Given the description of an element on the screen output the (x, y) to click on. 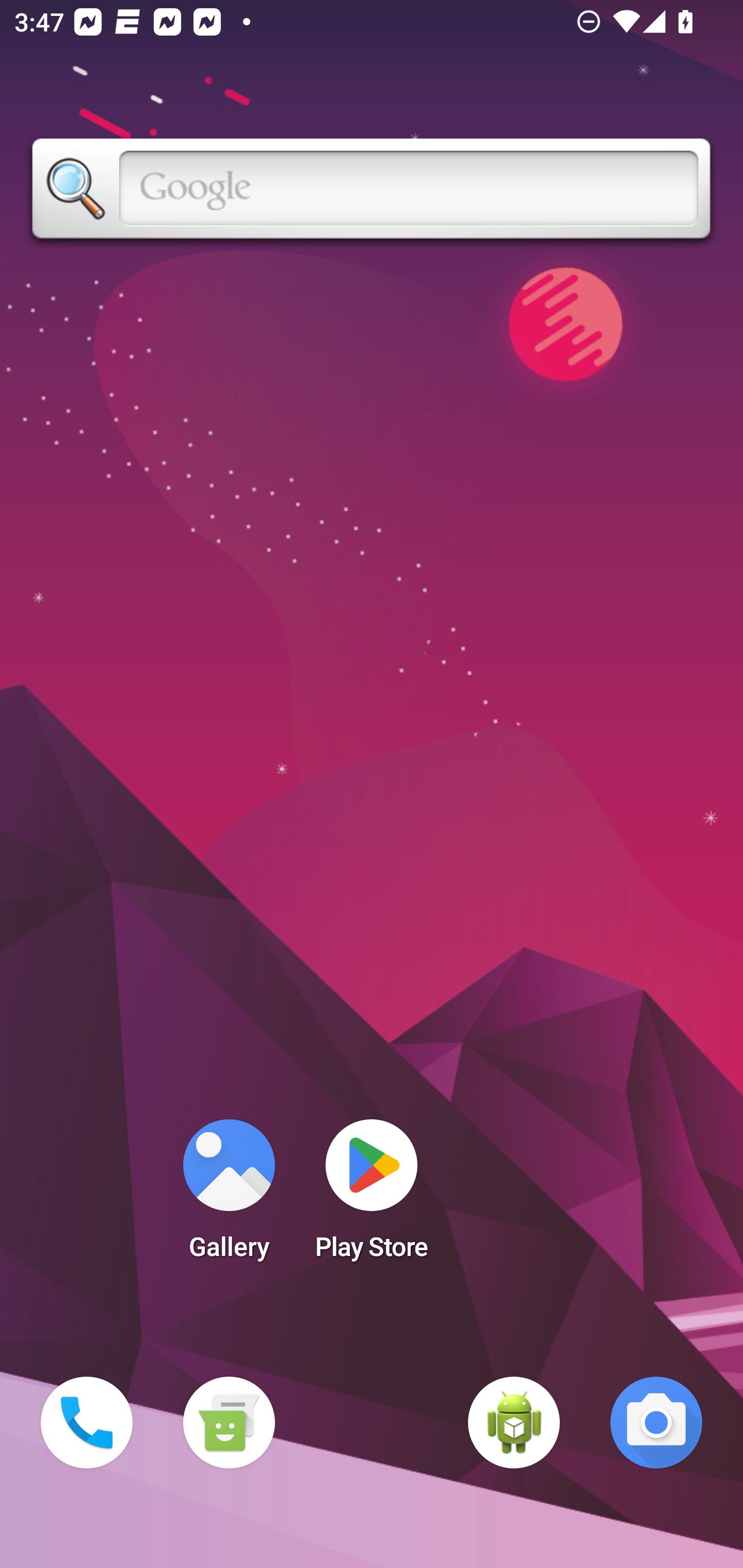
Gallery (228, 1195)
Play Store (371, 1195)
Phone (86, 1422)
Messaging (228, 1422)
WebView Browser Tester (513, 1422)
Camera (656, 1422)
